Given the description of an element on the screen output the (x, y) to click on. 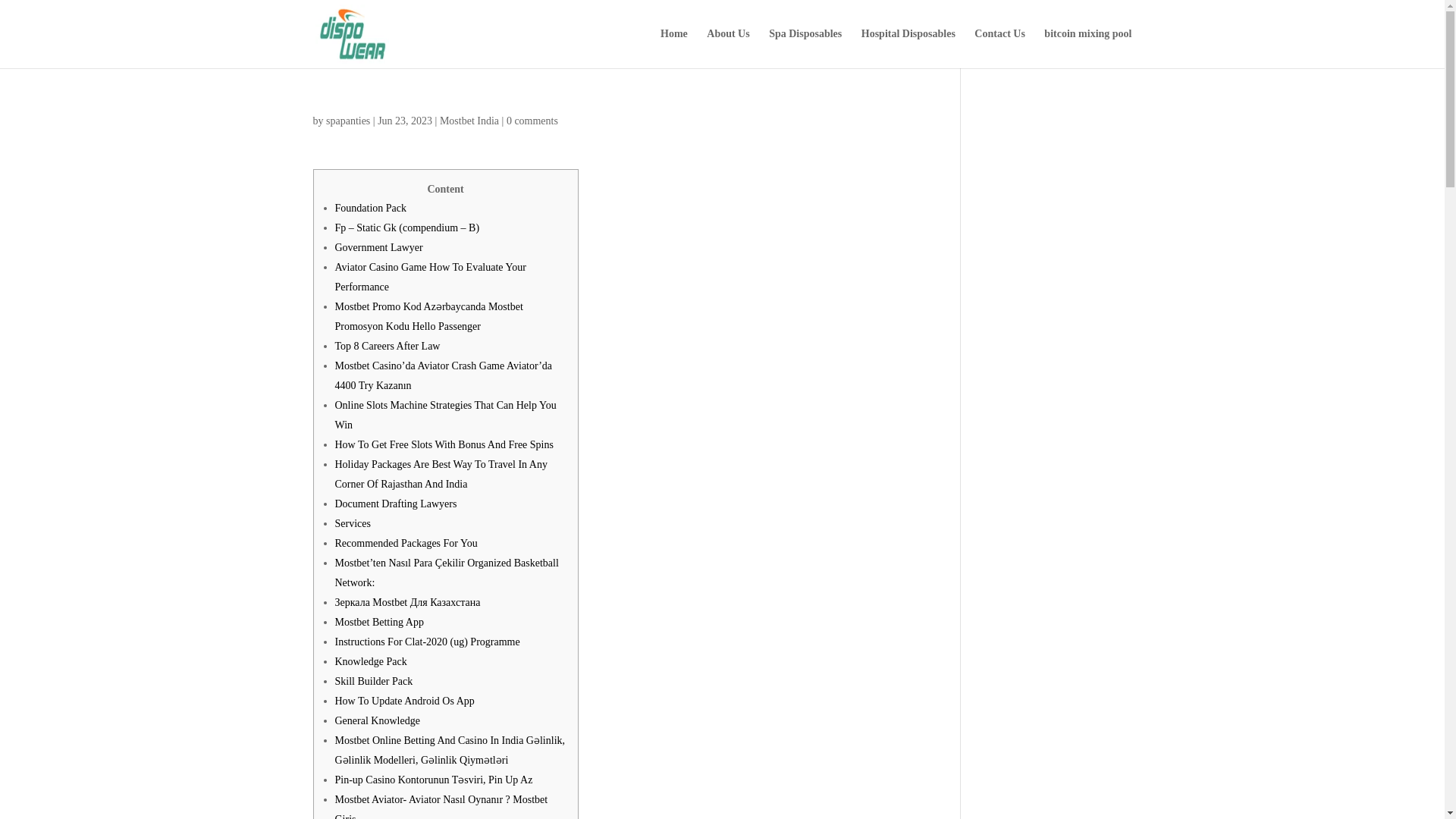
Top 8 Careers After Law (387, 346)
About Us (727, 47)
Spa Disposables (804, 47)
spapanties (347, 120)
Services (352, 523)
Document Drafting Lawyers (395, 503)
General Knowledge (377, 720)
How To Get Free Slots With Bonus And Free Spins (443, 444)
Foundation Pack (370, 207)
Government Lawyer (378, 247)
How To Update Android Os App (404, 700)
Home (674, 47)
Hospital Disposables (908, 47)
Contact Us (999, 47)
